Given the description of an element on the screen output the (x, y) to click on. 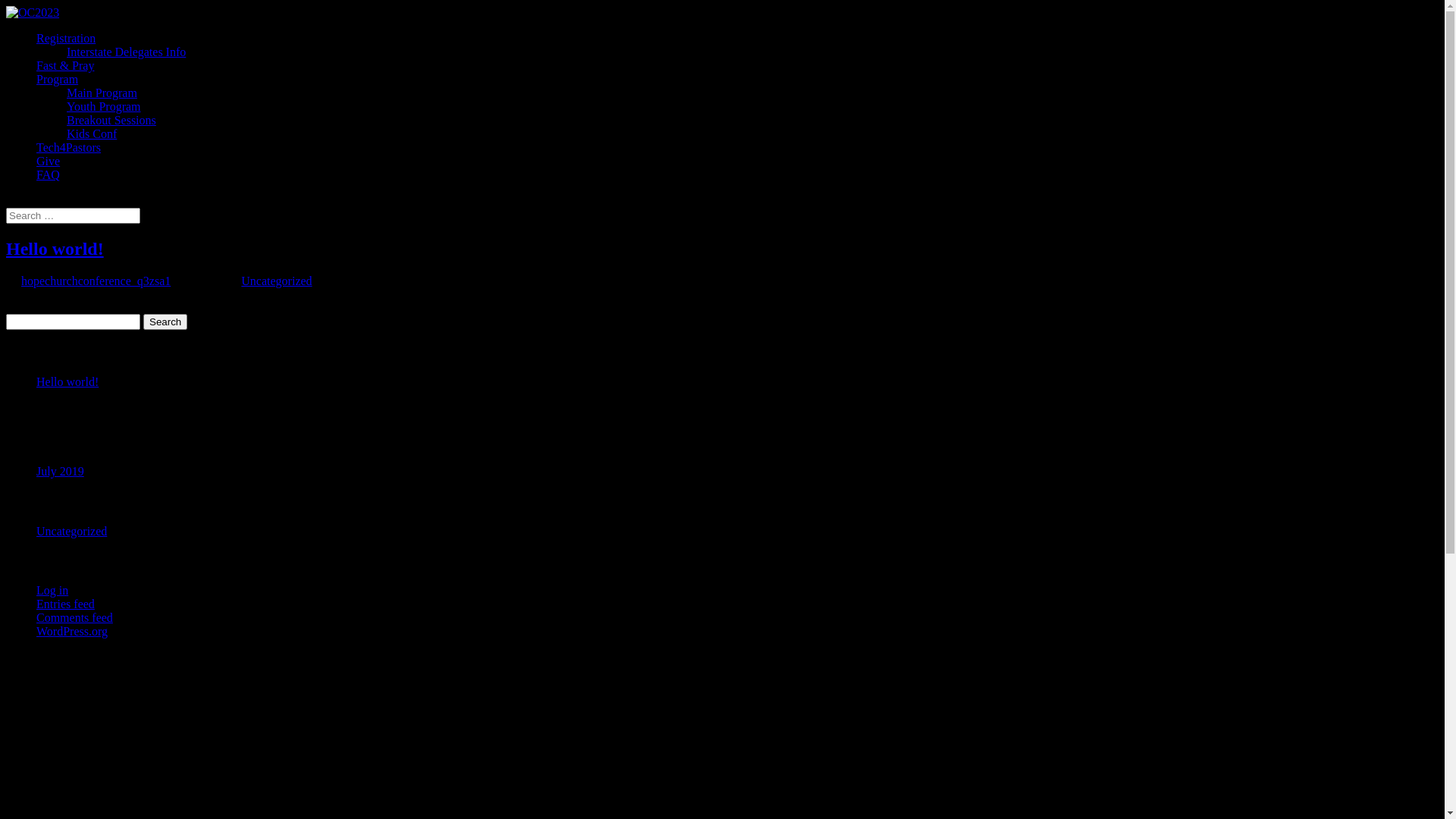
Entries feed Element type: text (65, 603)
Search Element type: text (165, 321)
Hello world! Element type: text (54, 248)
Main Program Element type: text (101, 92)
Youth Program Element type: text (103, 106)
WordPress.org Element type: text (71, 630)
Tech4Pastors Element type: text (68, 147)
Program Element type: text (57, 78)
Give Element type: text (47, 160)
Kids Conf Element type: text (91, 133)
Uncategorized Element type: text (276, 280)
Uncategorized Element type: text (71, 530)
Breakout Sessions Element type: text (111, 119)
Registration Element type: text (65, 37)
hopechurchconference_q3zsa1 Element type: text (95, 280)
Interstate Delegates Info Element type: text (125, 51)
Search for: Element type: hover (73, 215)
Log in Element type: text (52, 589)
Hello world! Element type: text (67, 381)
July 2019 Element type: text (60, 470)
Fast & Pray Element type: text (65, 65)
FAQ Element type: text (47, 174)
Comments feed Element type: text (74, 617)
